Given the description of an element on the screen output the (x, y) to click on. 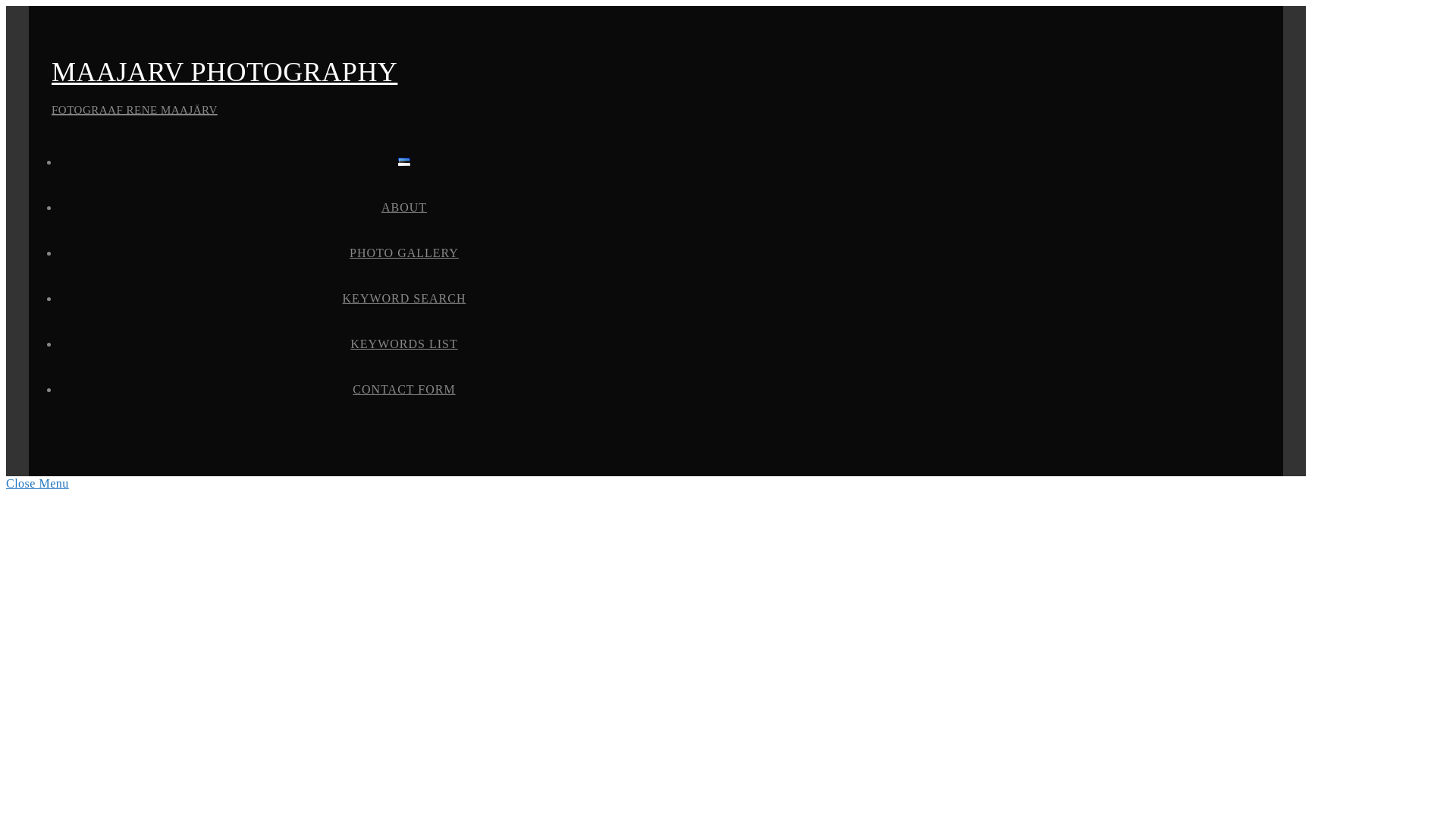
ABOUT (407, 207)
KEYWORDS LIST (407, 343)
PHOTO GALLERY (407, 252)
KEYWORD SEARCH (408, 298)
CONTACT FORM (407, 389)
